Given the description of an element on the screen output the (x, y) to click on. 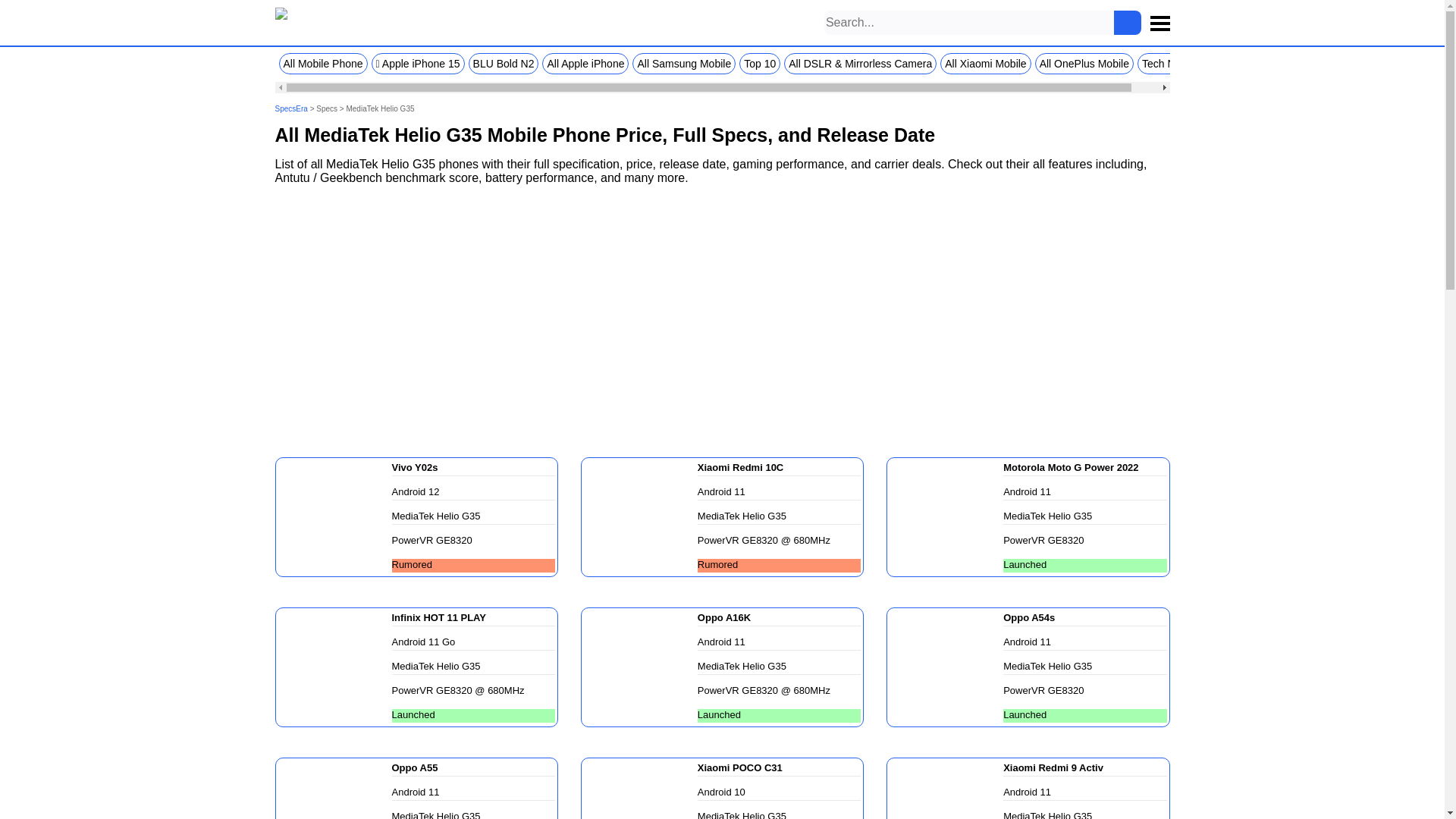
Xiaomi Redmi 9 Activ Price, Full Specs and Release Date (946, 789)
All Mobile Phone (323, 63)
All OnePlus Mobile (1084, 63)
Xiaomi POCO C31 Price, Full Specs and Release Date (640, 789)
All Xiaomi Mobile (985, 63)
Oppo A55 Price, Full Specs and Release Date (334, 789)
Tech News (1167, 63)
Xiaomi Redmi 10C Price, Full Specs and Release Date (640, 516)
Infinix HOT 11 PLAY Price, Full Specs and Release Date (334, 666)
